Given the description of an element on the screen output the (x, y) to click on. 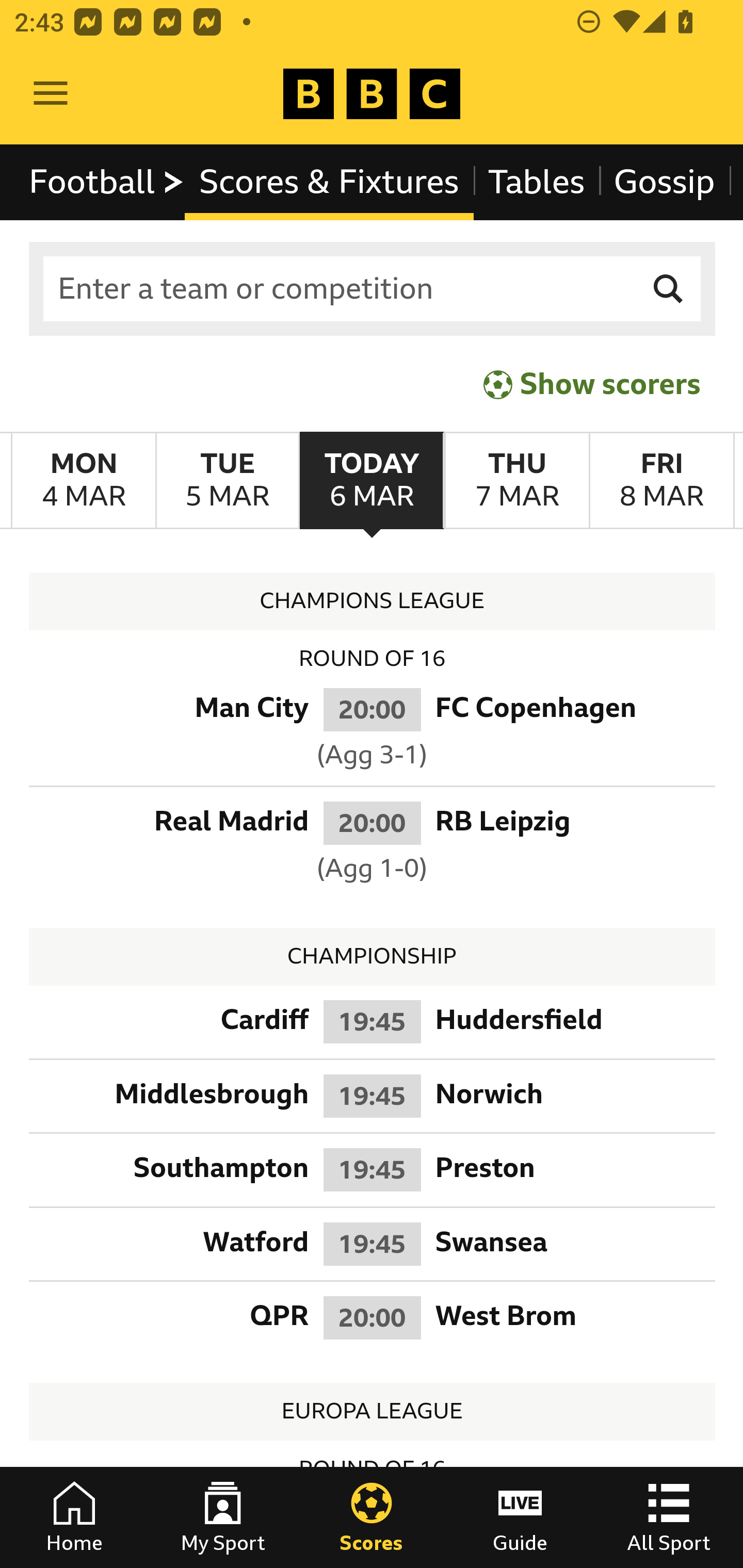
Open Menu (50, 93)
Football  (106, 181)
Scores & Fixtures (329, 181)
Tables (536, 181)
Gossip (664, 181)
Search (669, 289)
Show scorers (591, 383)
MondayMarch 4th Monday March 4th (83, 480)
TuesdayMarch 5th Tuesday March 5th (227, 480)
ThursdayMarch 7th Thursday March 7th (516, 480)
FridayMarch 8th Friday March 8th (661, 480)
Home (74, 1517)
My Sport (222, 1517)
Guide (519, 1517)
All Sport (668, 1517)
